Given the description of an element on the screen output the (x, y) to click on. 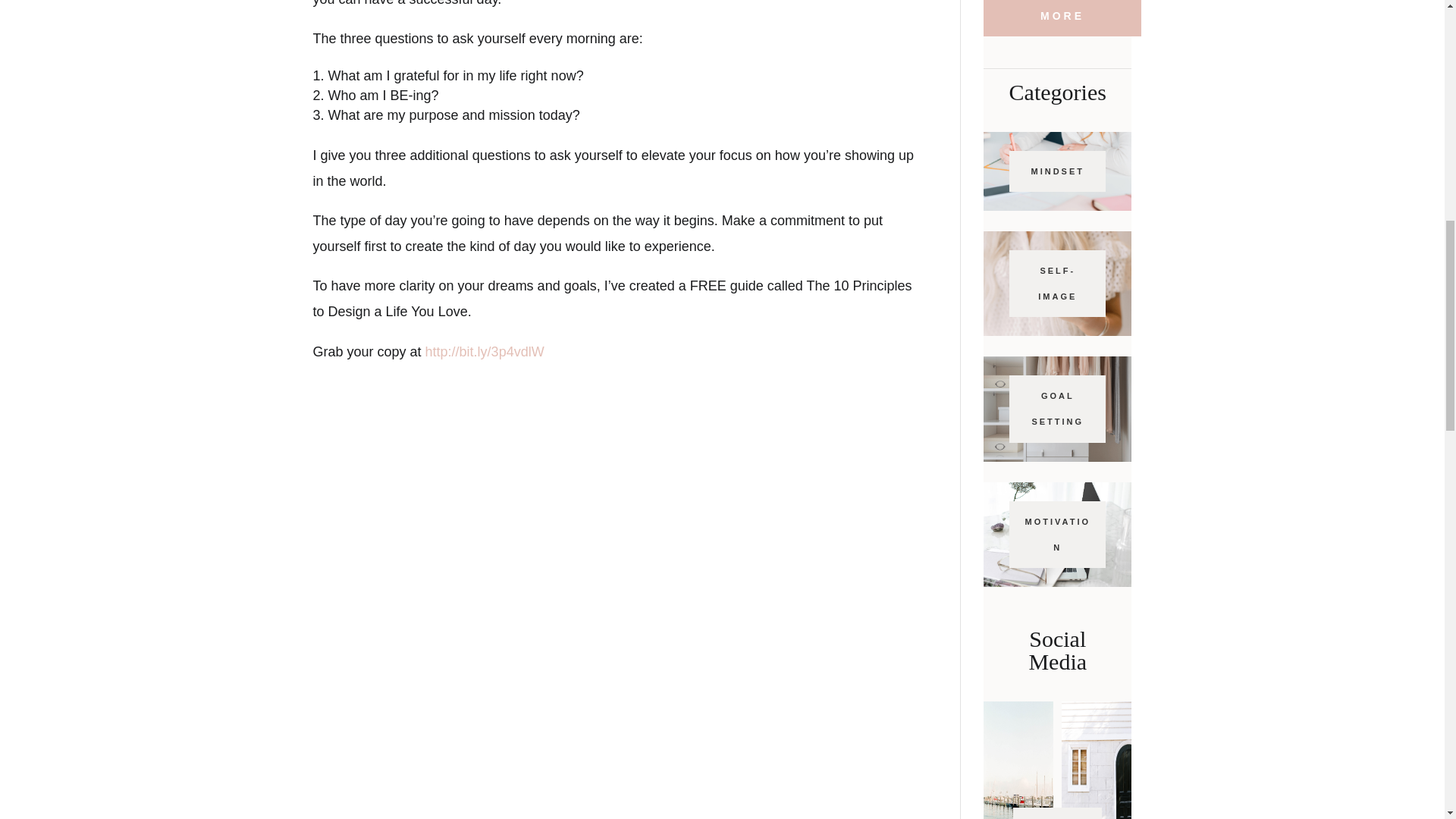
MORE (1062, 18)
